Given the description of an element on the screen output the (x, y) to click on. 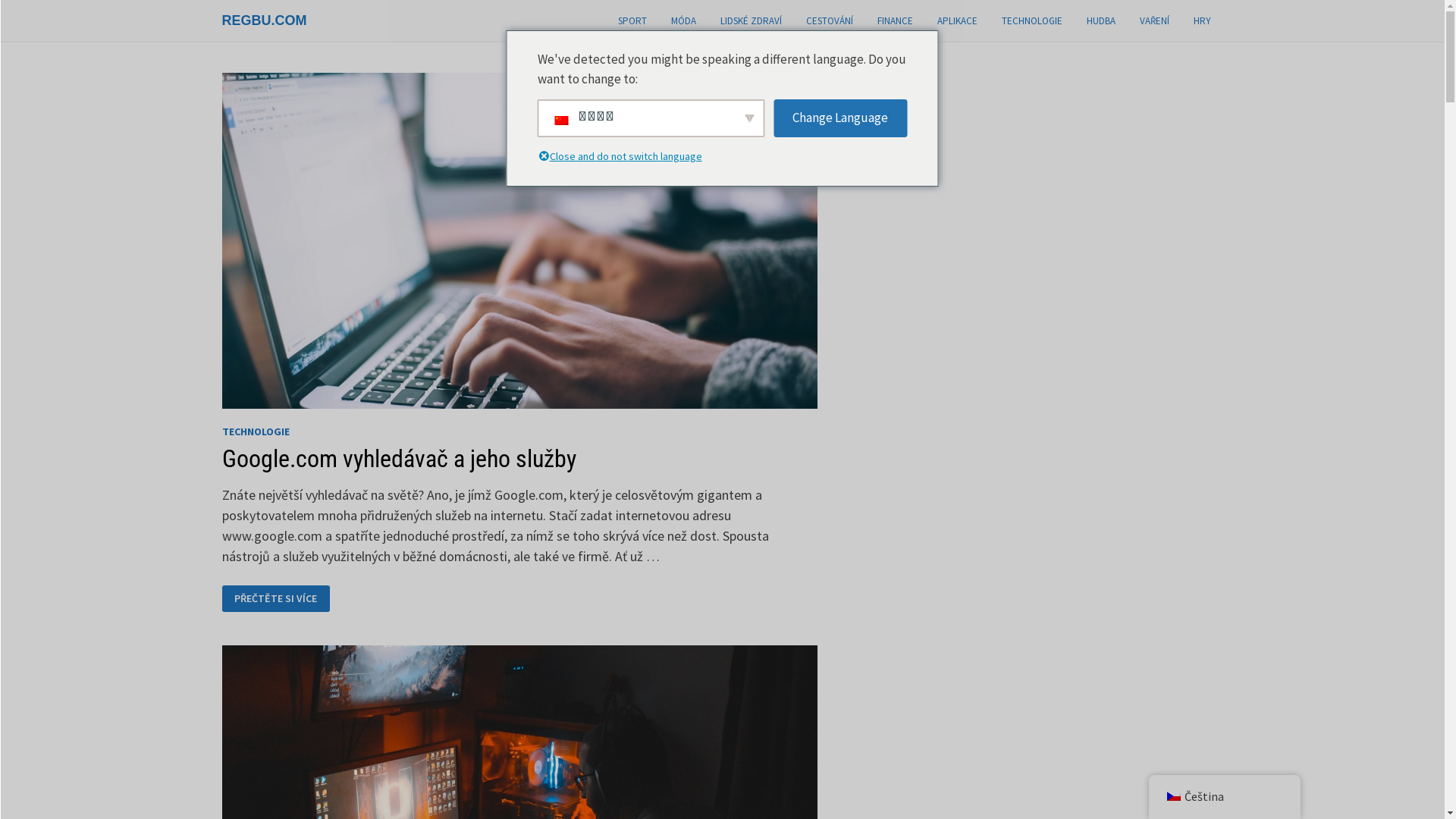
SPORT Element type: text (631, 20)
HRY Element type: text (1202, 20)
HUDBA Element type: text (1099, 20)
Advertisement Element type: hover (971, 299)
TECHNOLOGIE Element type: text (254, 431)
TECHNOLOGIE Element type: text (1030, 20)
Change Language Element type: text (839, 118)
REGBU.COM Element type: text (263, 20)
Close and do not switch language Element type: text (628, 157)
Close and do not switch language Element type: hover (542, 157)
APLIKACE Element type: text (957, 20)
FINANCE Element type: text (894, 20)
